Given the description of an element on the screen output the (x, y) to click on. 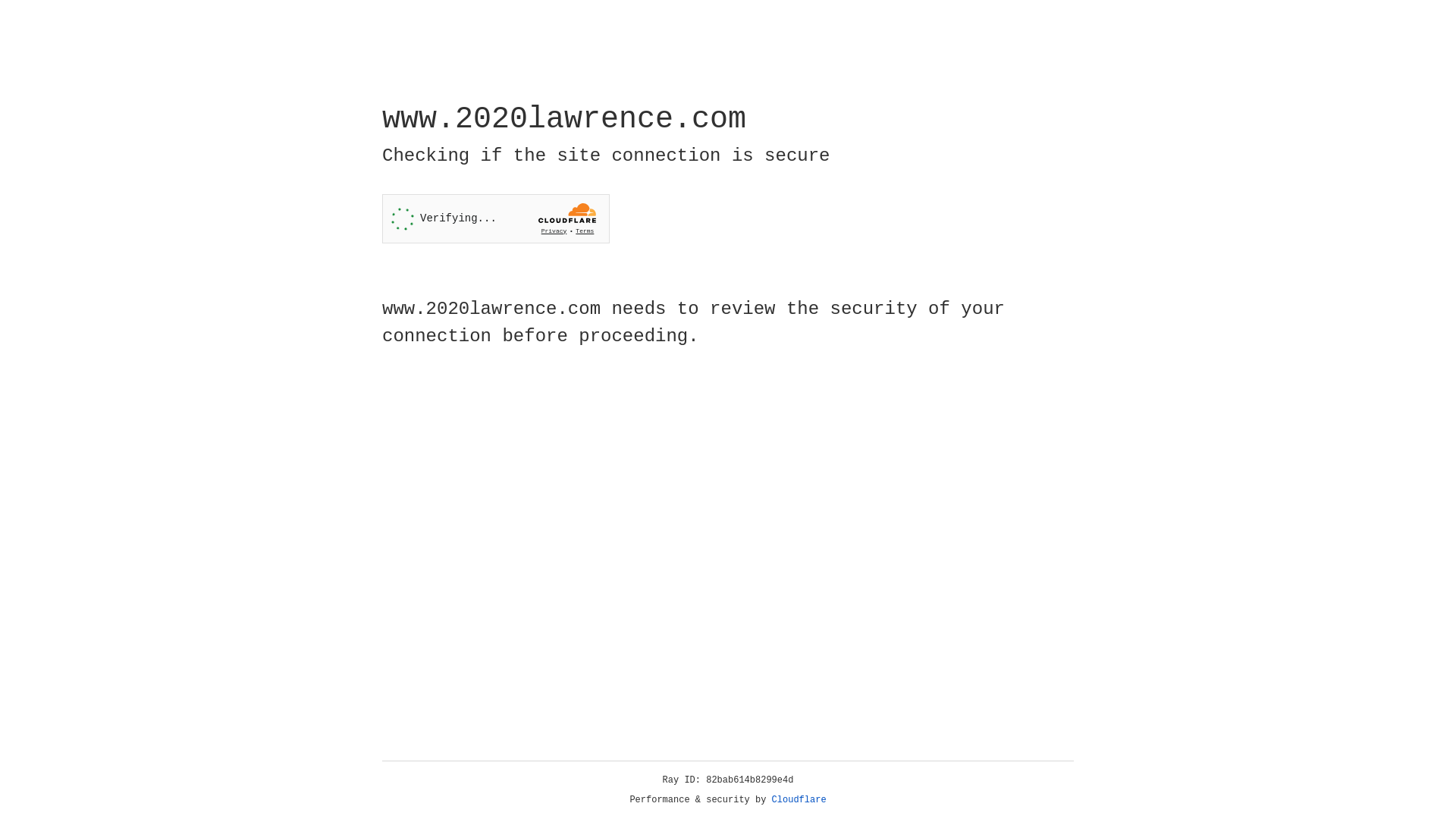
Cloudflare Element type: text (798, 799)
Widget containing a Cloudflare security challenge Element type: hover (495, 218)
